Given the description of an element on the screen output the (x, y) to click on. 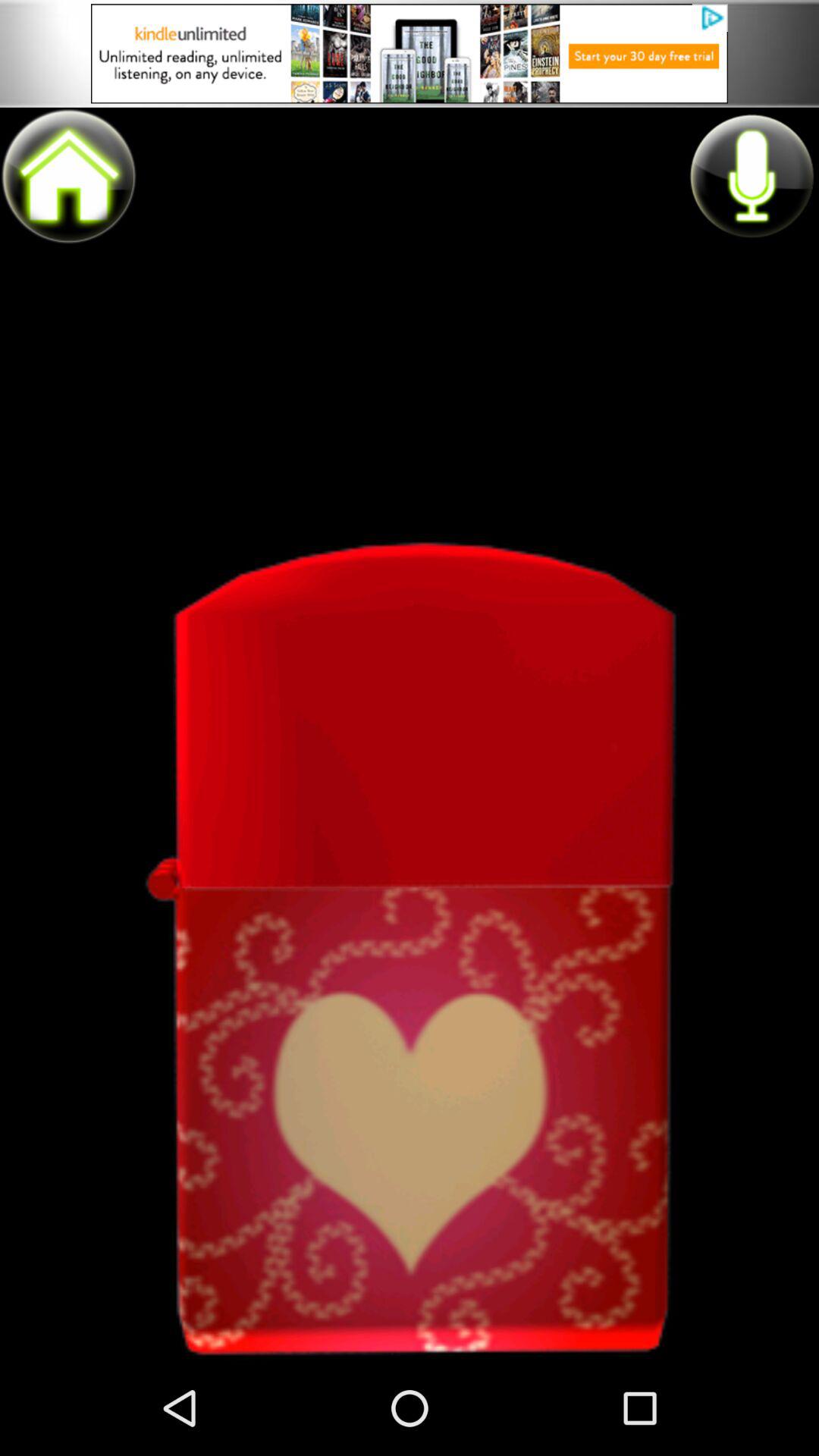
record button (751, 175)
